Given the description of an element on the screen output the (x, y) to click on. 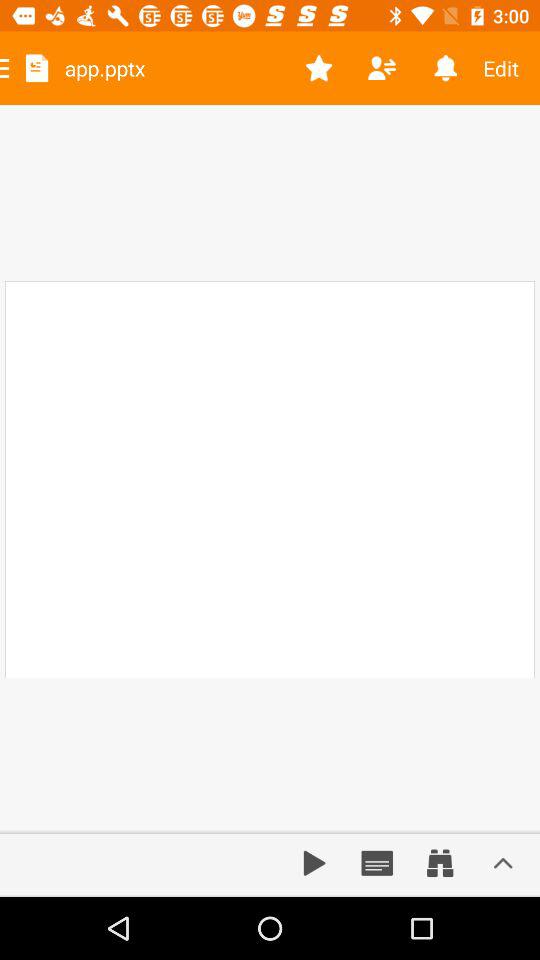
switch profile (381, 68)
